Given the description of an element on the screen output the (x, y) to click on. 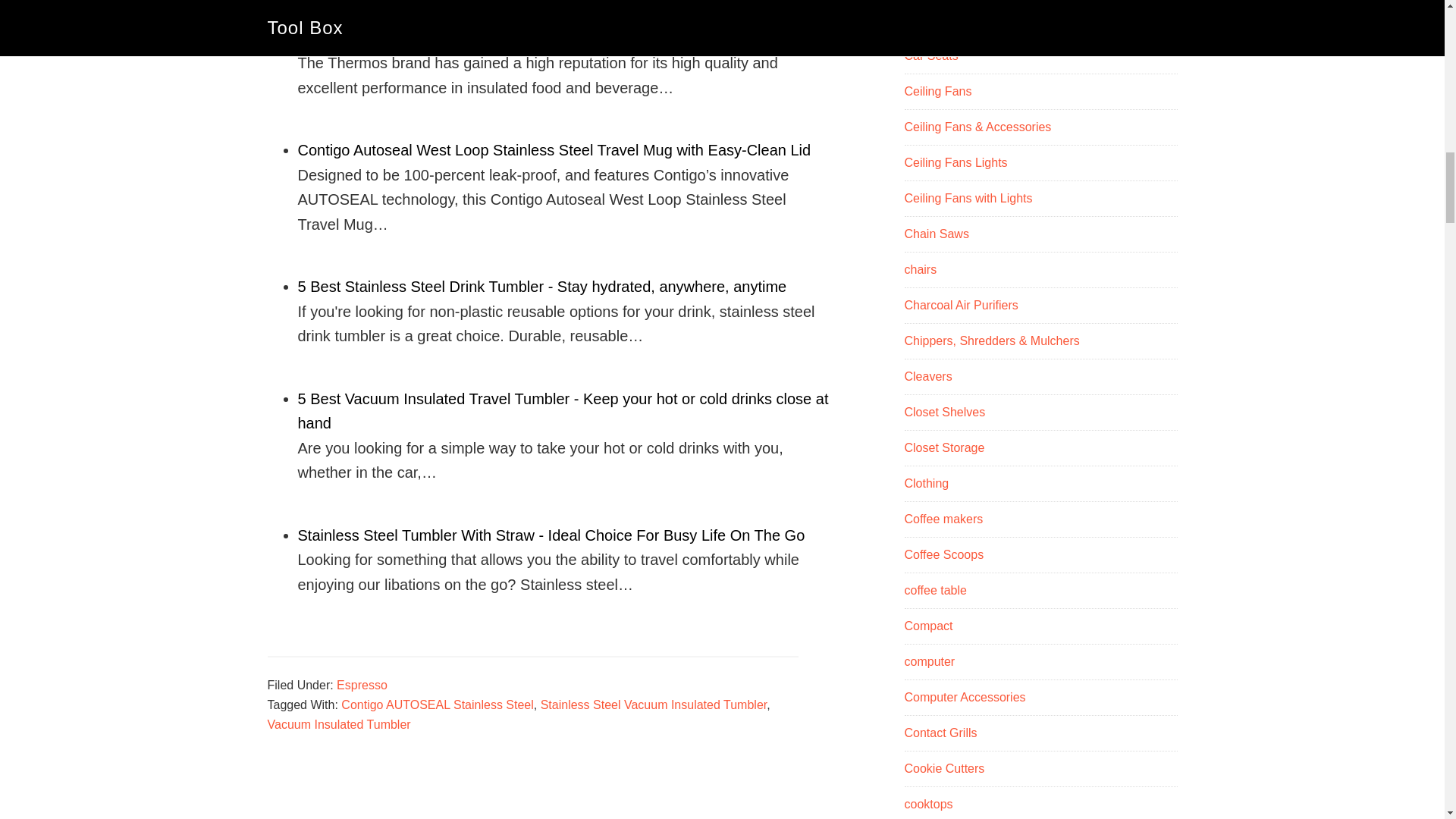
Stainless Steel Vacuum Insulated Tumbler (653, 704)
Espresso (361, 684)
Vacuum Insulated Tumbler (338, 724)
Contigo AUTOSEAL Stainless Steel (436, 704)
